Given the description of an element on the screen output the (x, y) to click on. 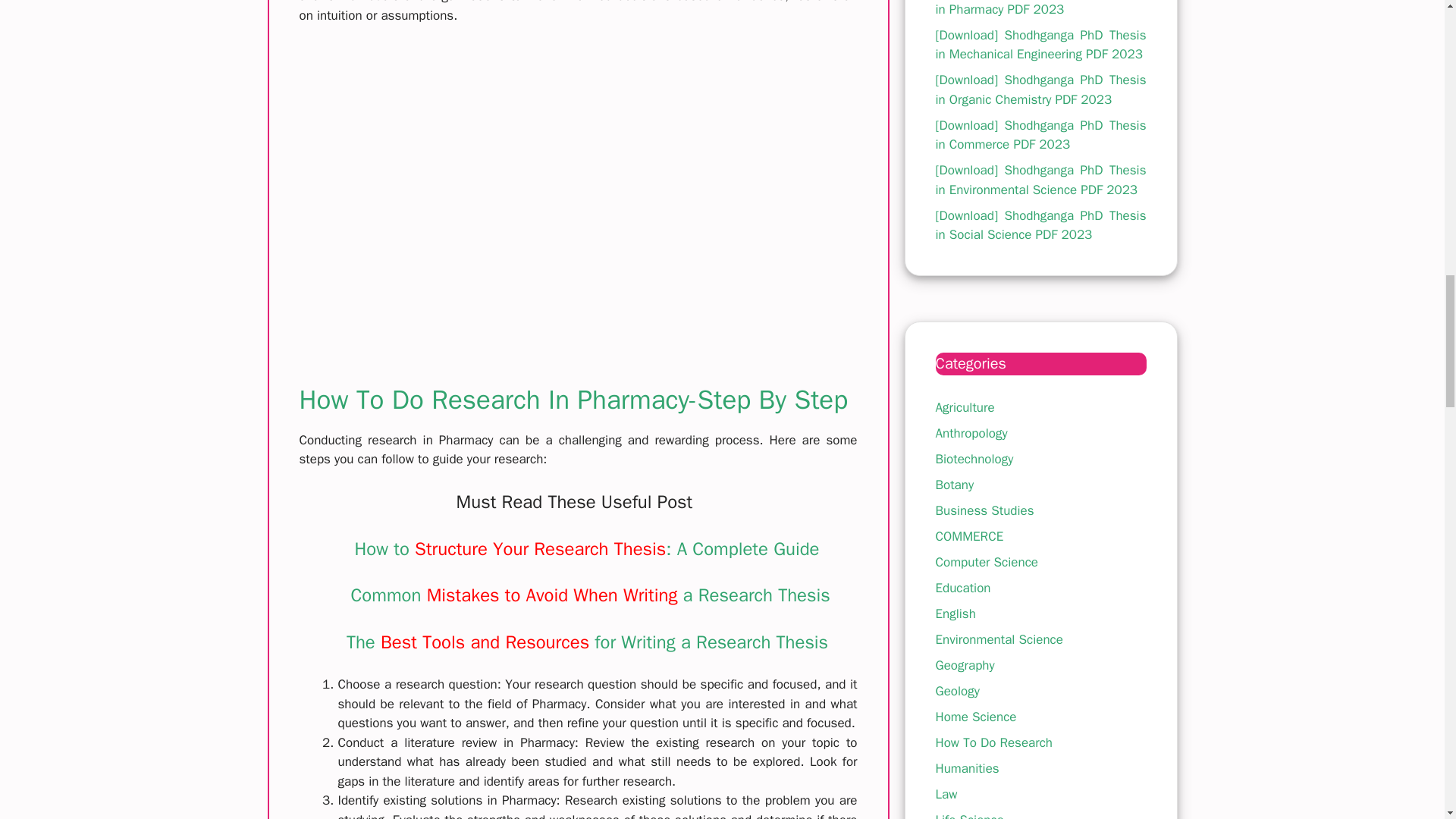
Common Mistakes to Avoid When Writing a Research Thesis (589, 594)
The Best Tools and Resources for Writing a Research Thesis (587, 641)
How to Structure Your Research Thesis: A Complete Guide (585, 548)
